Given the description of an element on the screen output the (x, y) to click on. 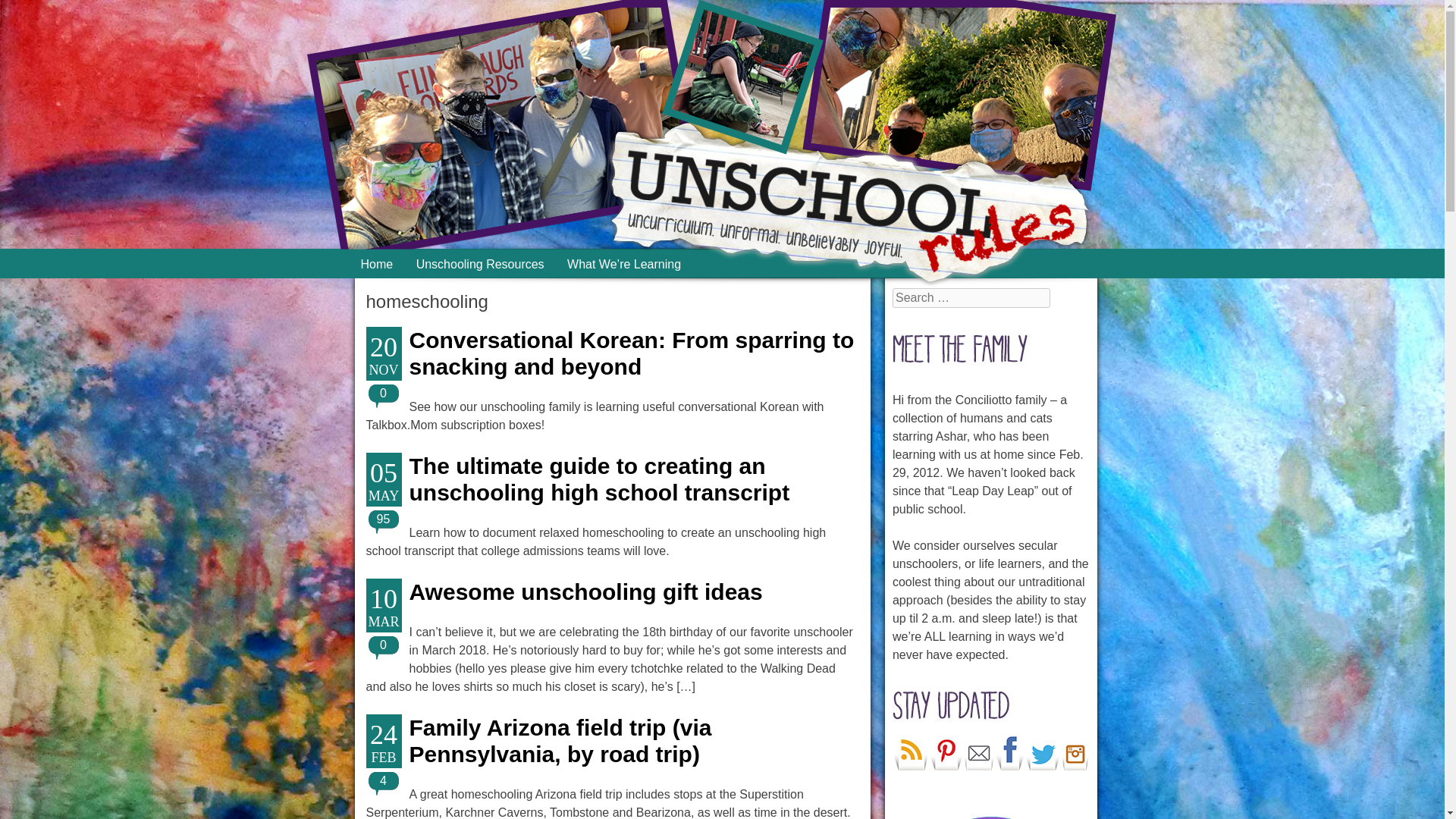
0 (383, 393)
MAY (383, 496)
Conversational Korean: From sparring to snacking and beyond (631, 353)
10 (383, 594)
MAR (383, 621)
Awesome unschooling gift ideas (585, 591)
20 (383, 343)
95 (383, 519)
0 (383, 645)
